Given the description of an element on the screen output the (x, y) to click on. 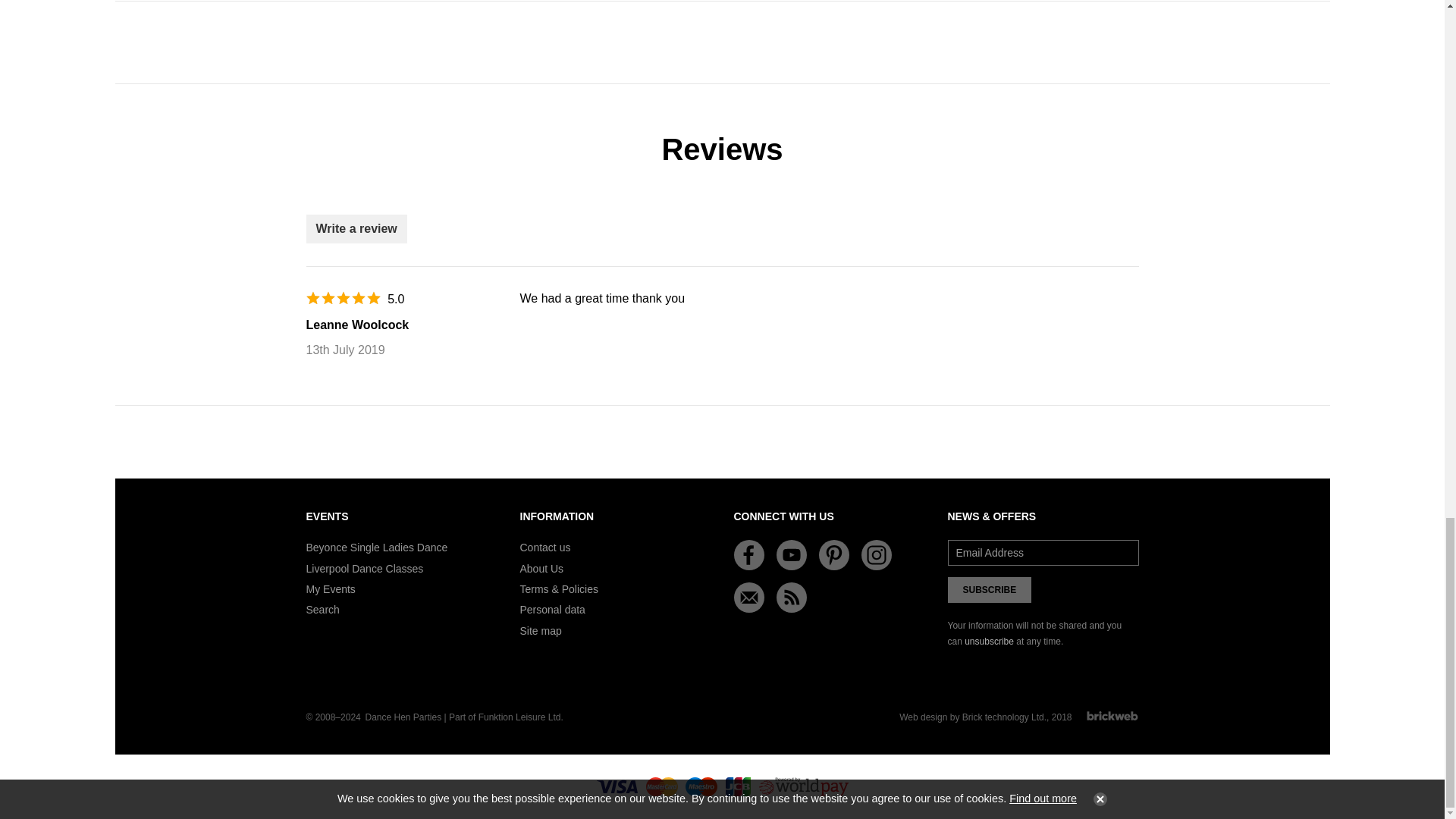
Excellent (342, 297)
Subscribe (989, 589)
Find the event you are looking for (322, 609)
Write a review (356, 228)
